Given the description of an element on the screen output the (x, y) to click on. 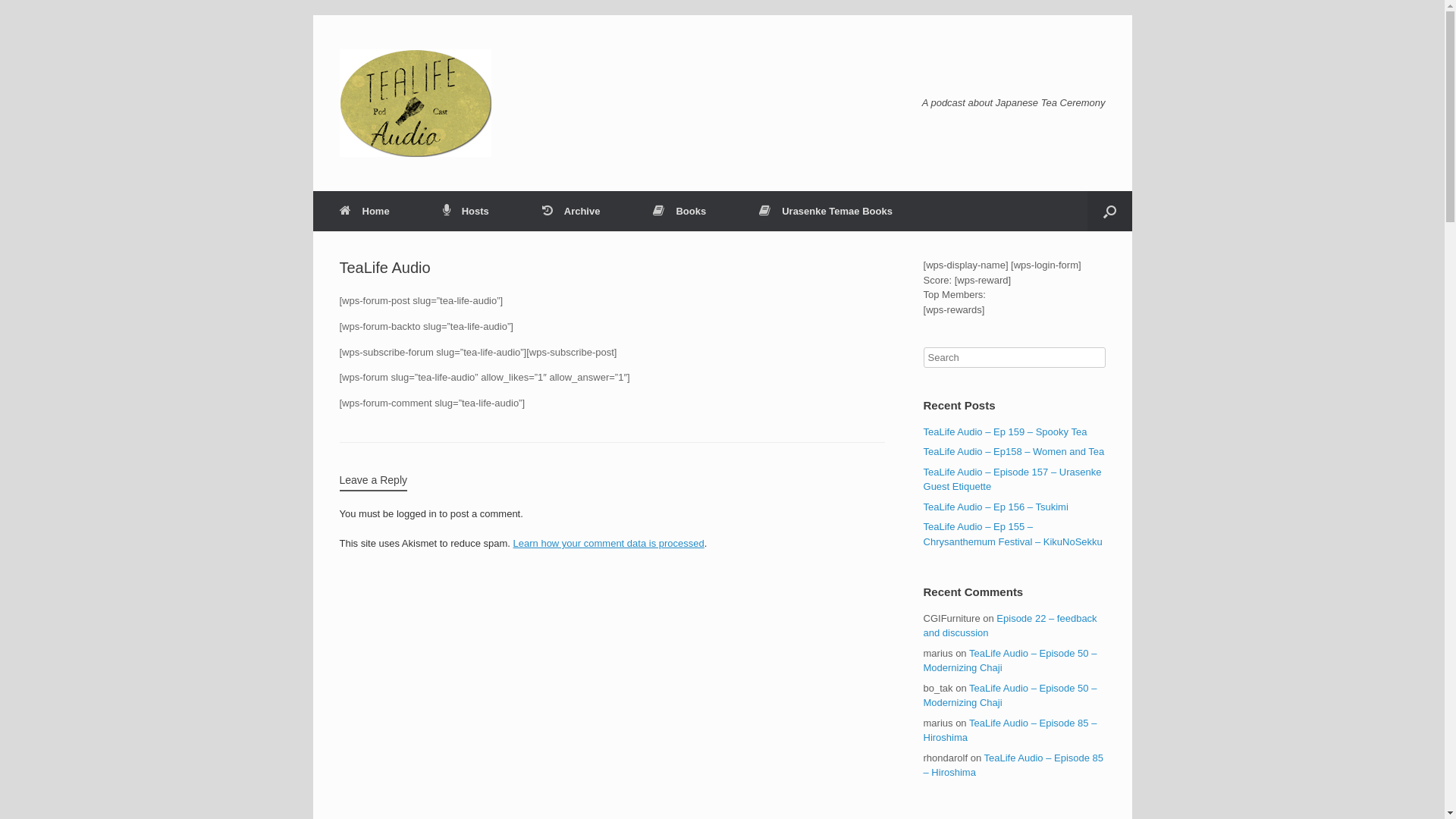
Hosts Element type: text (465, 211)
Learn how your comment data is processed Element type: text (608, 543)
Books Element type: text (679, 211)
Archive Element type: text (571, 211)
TeaLife Audio Element type: hover (415, 102)
Home Element type: text (363, 211)
Urasenke Temae Books Element type: text (825, 211)
